Given the description of an element on the screen output the (x, y) to click on. 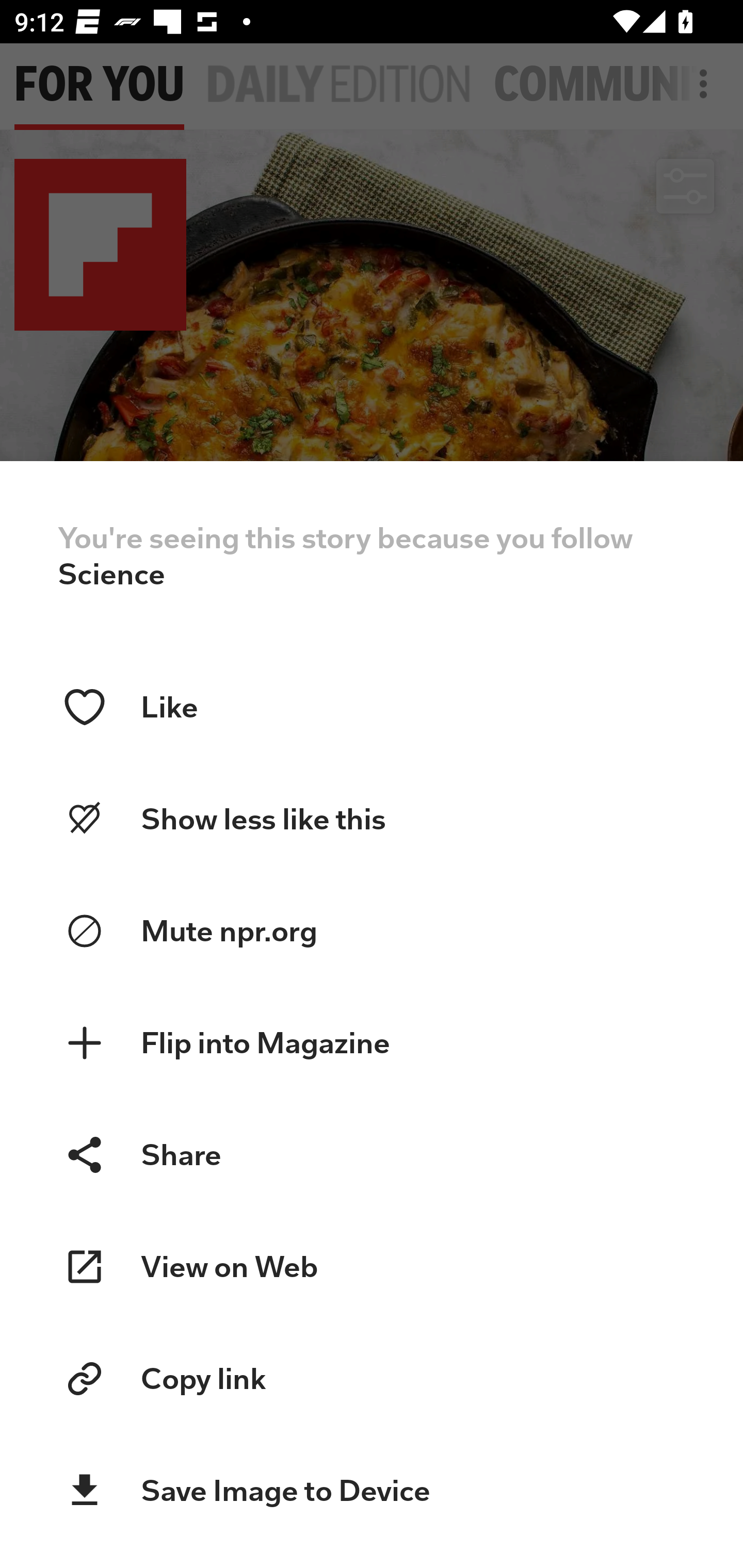
Like (371, 706)
Show less like this (371, 818)
Mute npr.org (371, 930)
Flip into Magazine (371, 1043)
Share (371, 1154)
View on Web (371, 1266)
Copy link (371, 1378)
Save Image to Device (371, 1490)
